Given the description of an element on the screen output the (x, y) to click on. 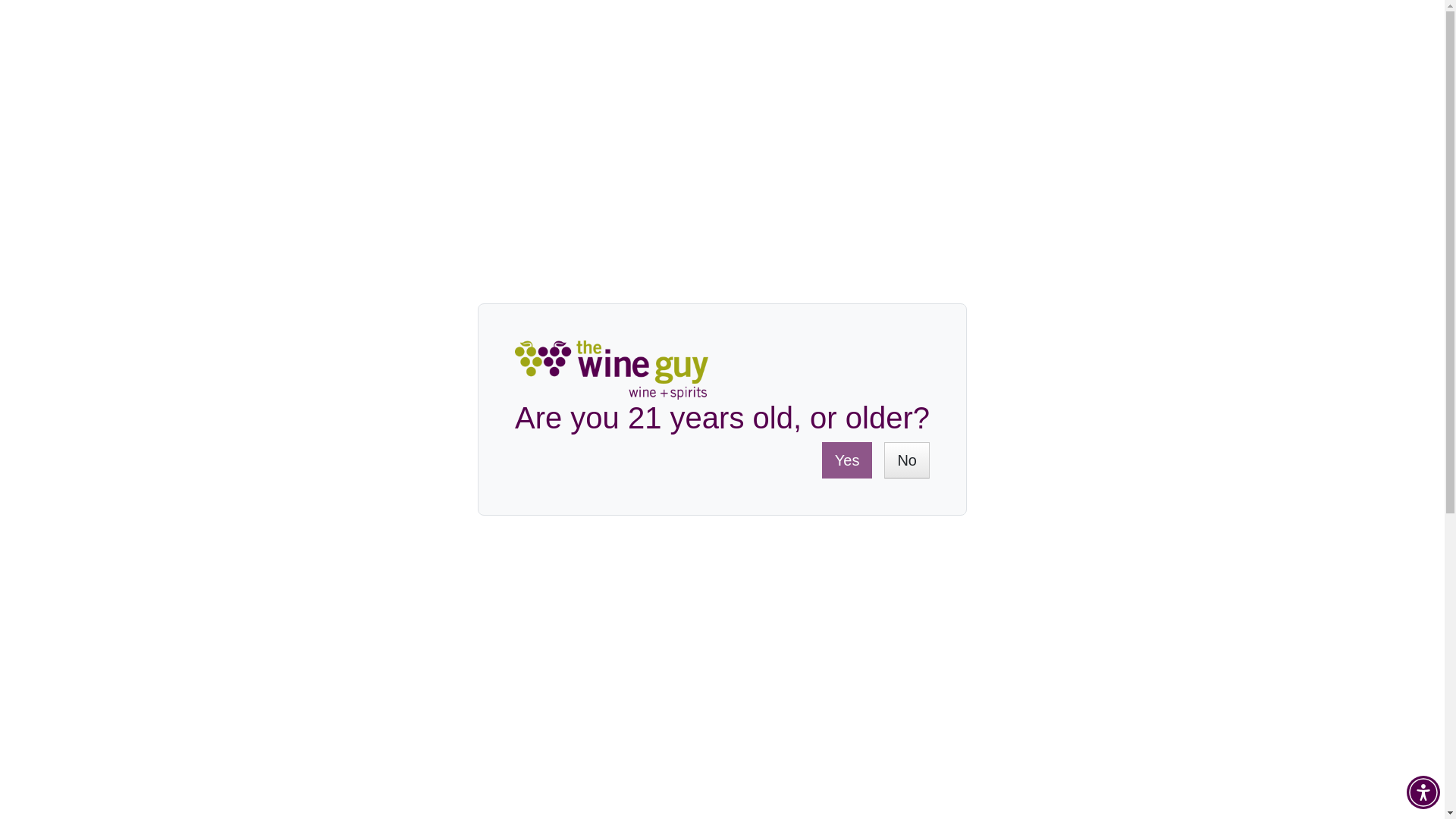
Cimarron (432, 739)
Facebook (1096, 432)
SHOP SPIRITS (710, 146)
Email (1160, 432)
Message (1202, 432)
SHOP WINE (379, 146)
CONTACT US (1257, 57)
Accessibility Menu (1422, 792)
Add to Cart (896, 334)
NEW ARRIVALS (1053, 146)
Pinterest (1139, 432)
Twitter (1117, 432)
Jalisco (471, 708)
Print (1181, 432)
Blanco (426, 677)
